Given the description of an element on the screen output the (x, y) to click on. 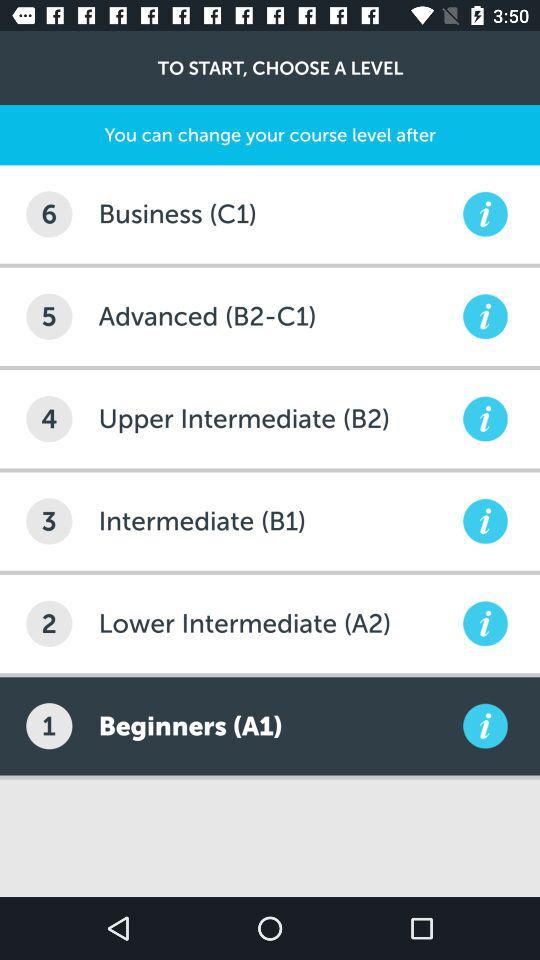
view more information (485, 316)
